Given the description of an element on the screen output the (x, y) to click on. 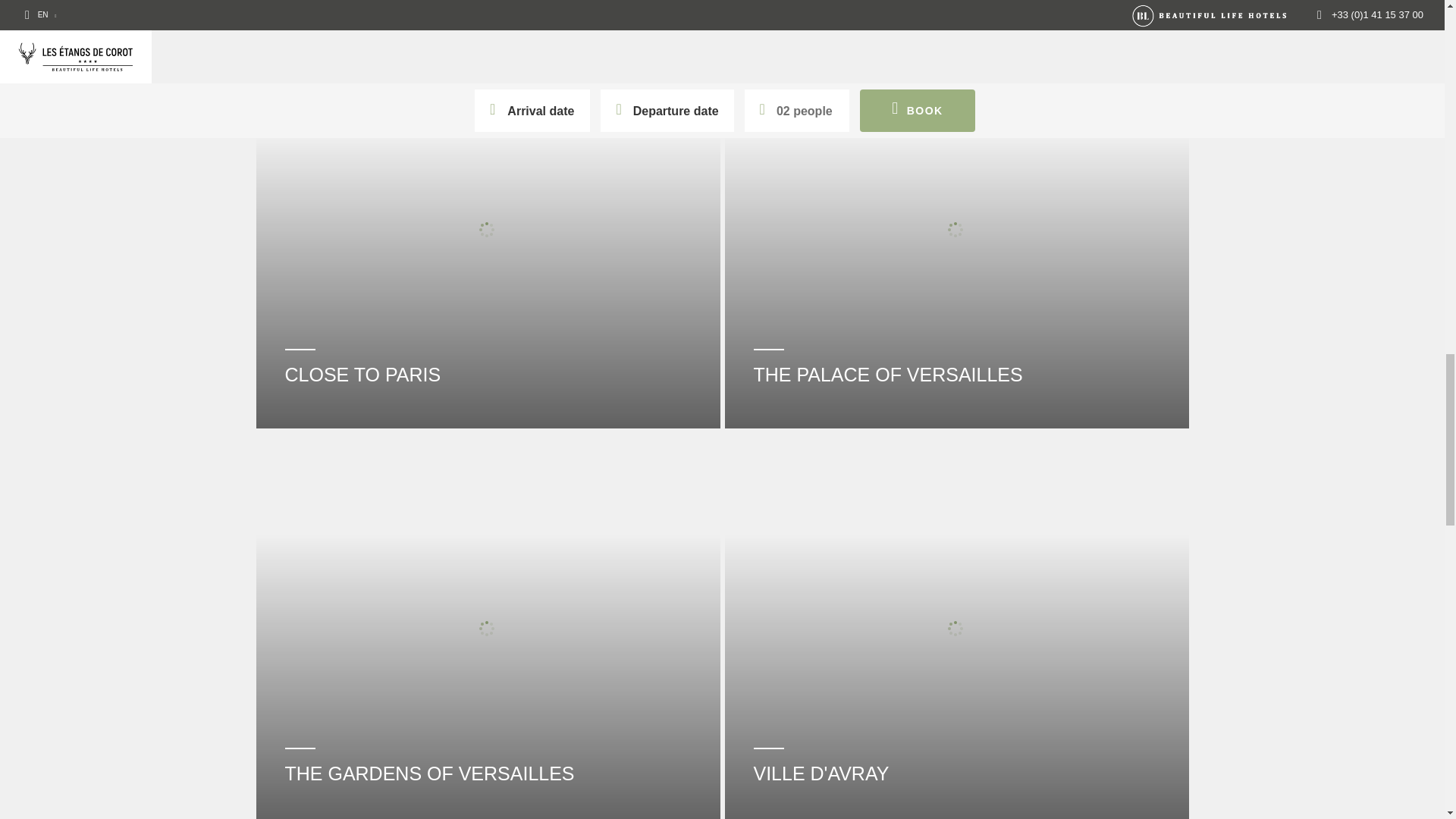
TOURISM (488, 14)
